Given the description of an element on the screen output the (x, y) to click on. 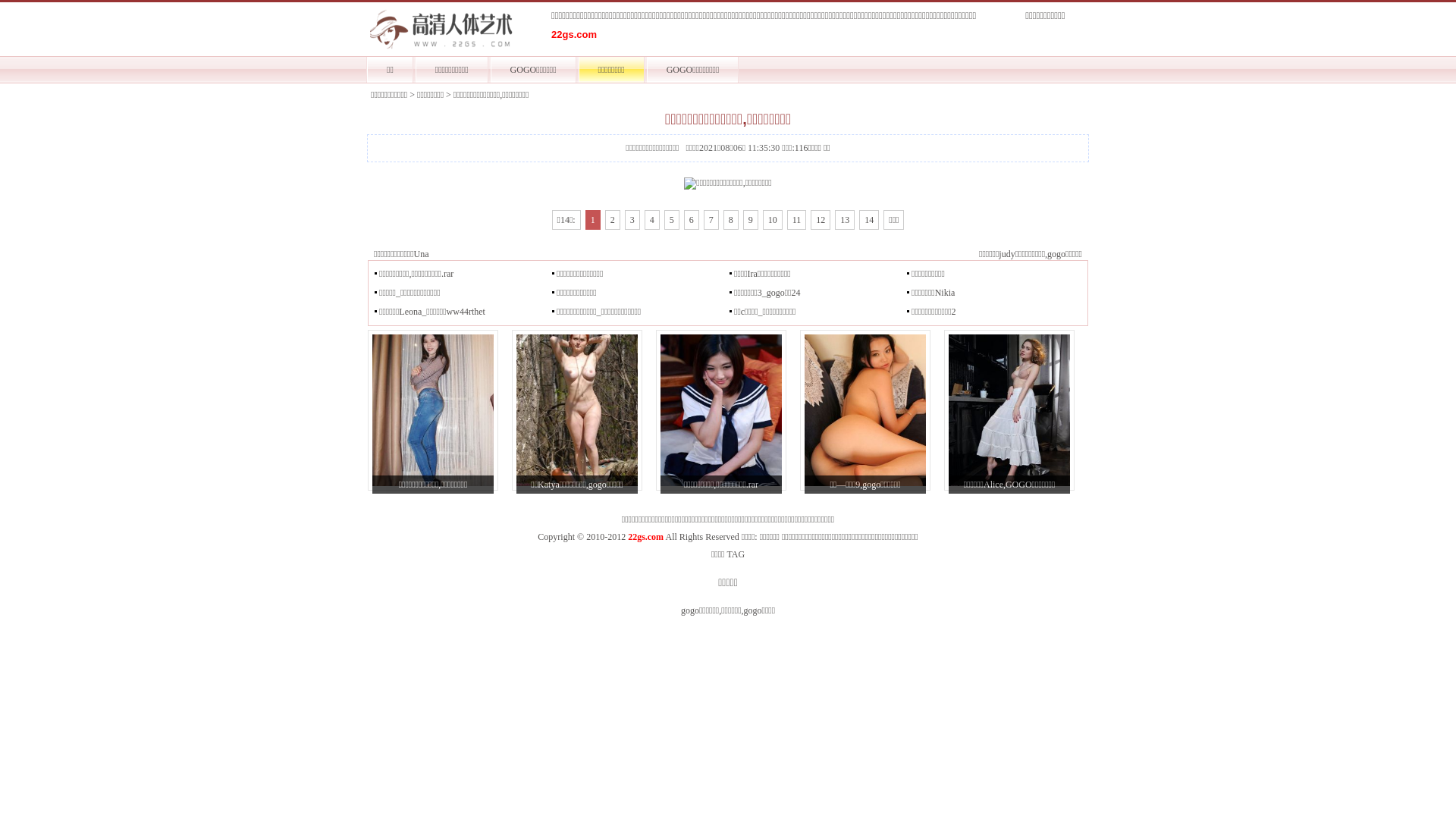
5 Element type: text (671, 219)
13 Element type: text (844, 219)
6 Element type: text (691, 219)
9 Element type: text (750, 219)
4 Element type: text (651, 219)
1 Element type: text (592, 219)
10 Element type: text (772, 219)
3 Element type: text (632, 219)
8 Element type: text (730, 219)
11 Element type: text (796, 219)
14 Element type: text (868, 219)
7 Element type: text (710, 219)
12 Element type: text (820, 219)
TAG Element type: text (735, 554)
2 Element type: text (612, 219)
